Given the description of an element on the screen output the (x, y) to click on. 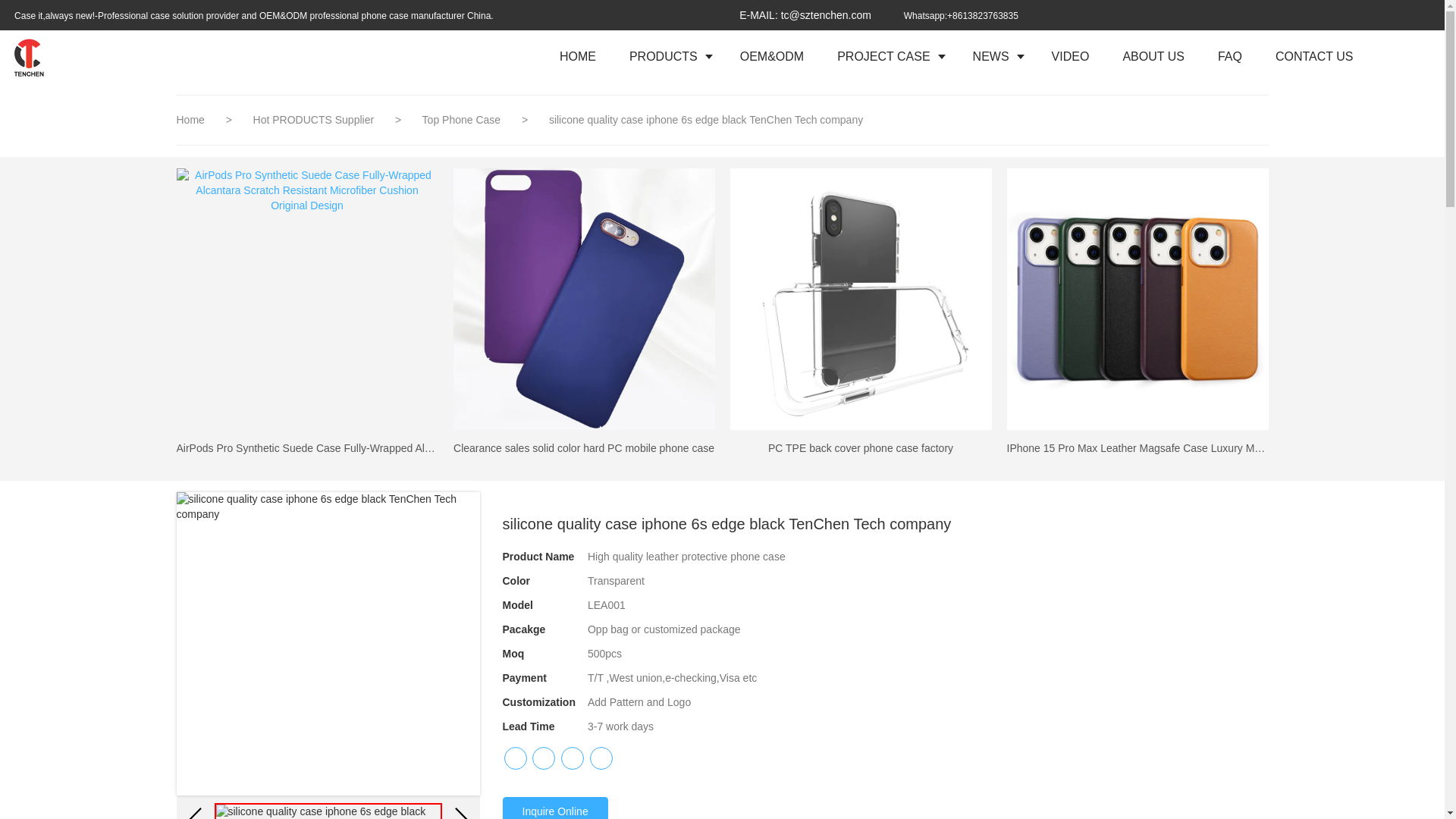
Top Phone Case (462, 119)
PROJECT CASE (888, 56)
PRODUCTS (667, 56)
CONTACT US (1314, 56)
Home (189, 119)
Hot PRODUCTS Supplier (315, 119)
ABOUT US (1153, 56)
NEWS (995, 56)
HOME (577, 56)
VIDEO (1070, 56)
